Given the description of an element on the screen output the (x, y) to click on. 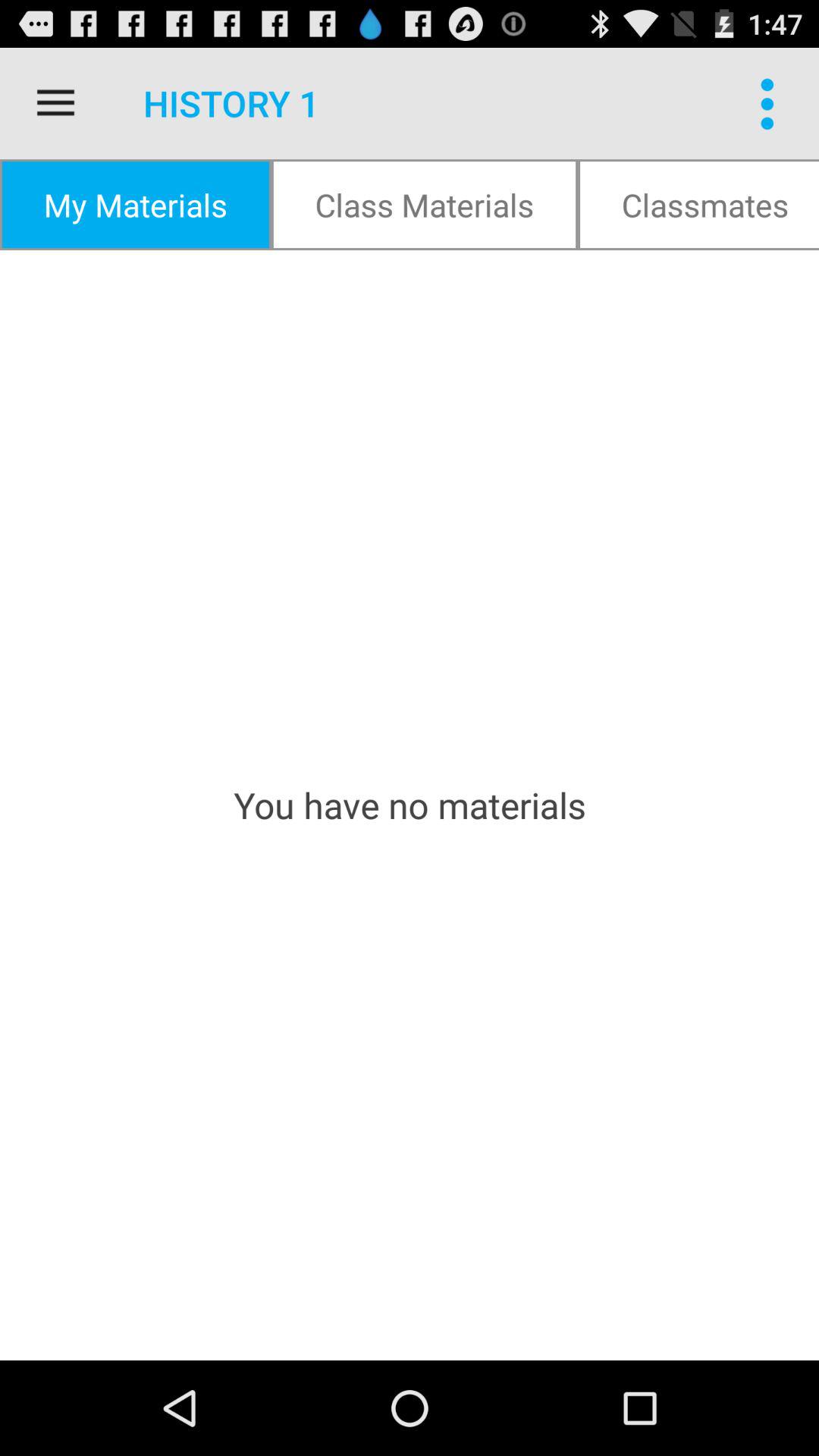
launch item to the right of class materials (698, 204)
